Given the description of an element on the screen output the (x, y) to click on. 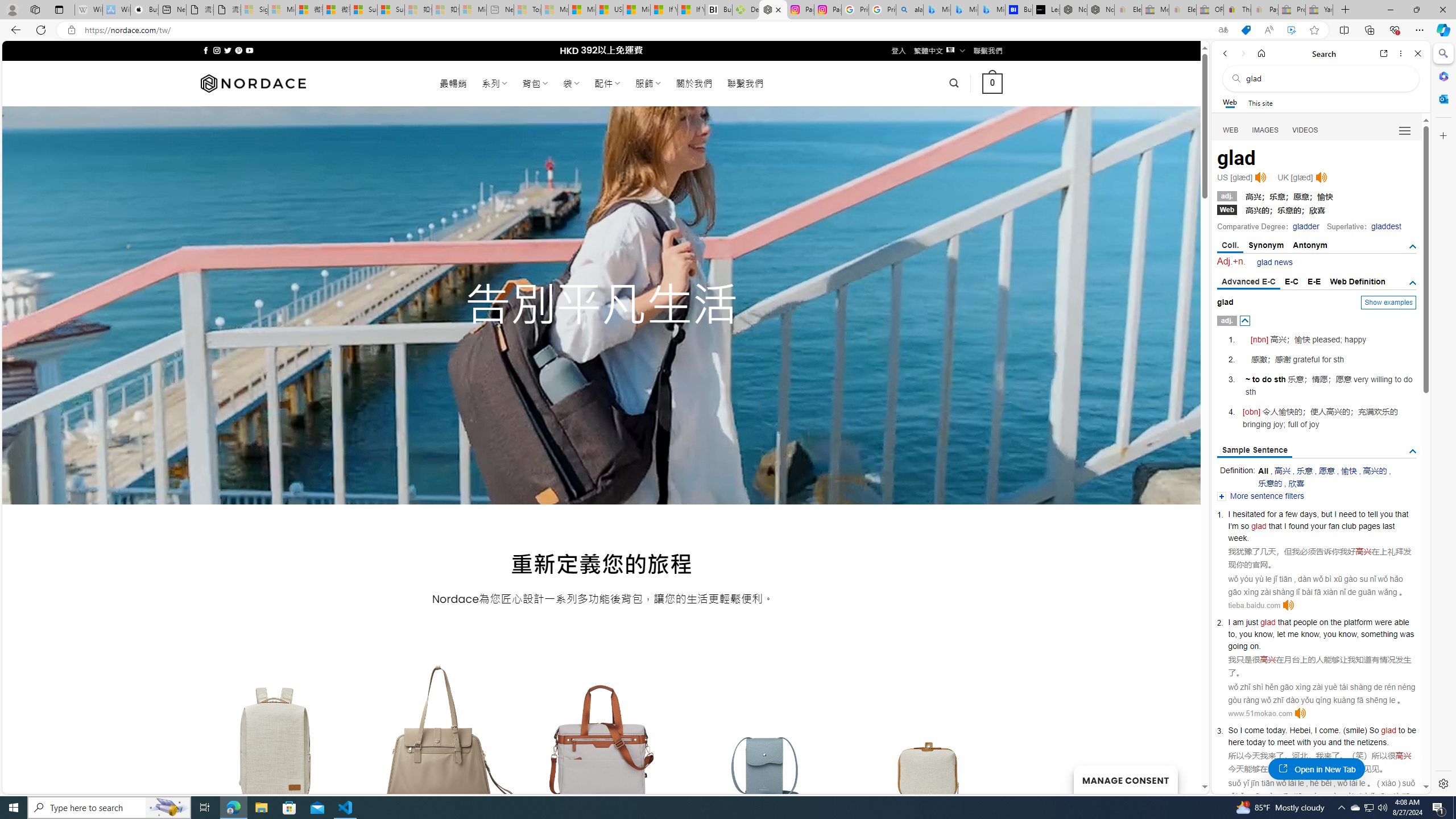
AutomationID: tgdef (1412, 282)
glad (1388, 729)
on (1323, 621)
AutomationID: posbtn_0 (1245, 320)
Threats and offensive language policy | eBay (1236, 9)
